Given the description of an element on the screen output the (x, y) to click on. 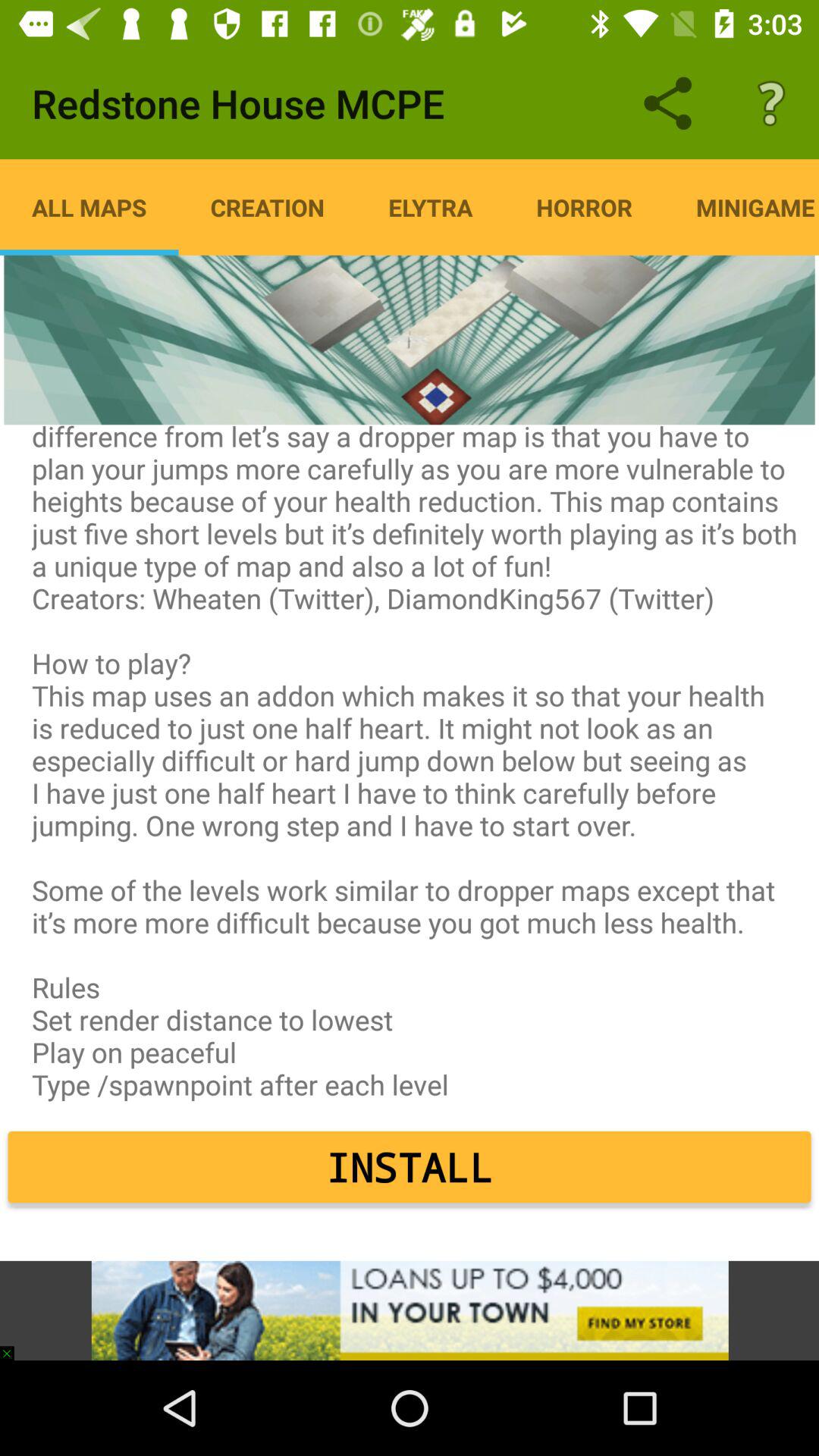
tap item to the left of minigame (584, 207)
